Given the description of an element on the screen output the (x, y) to click on. 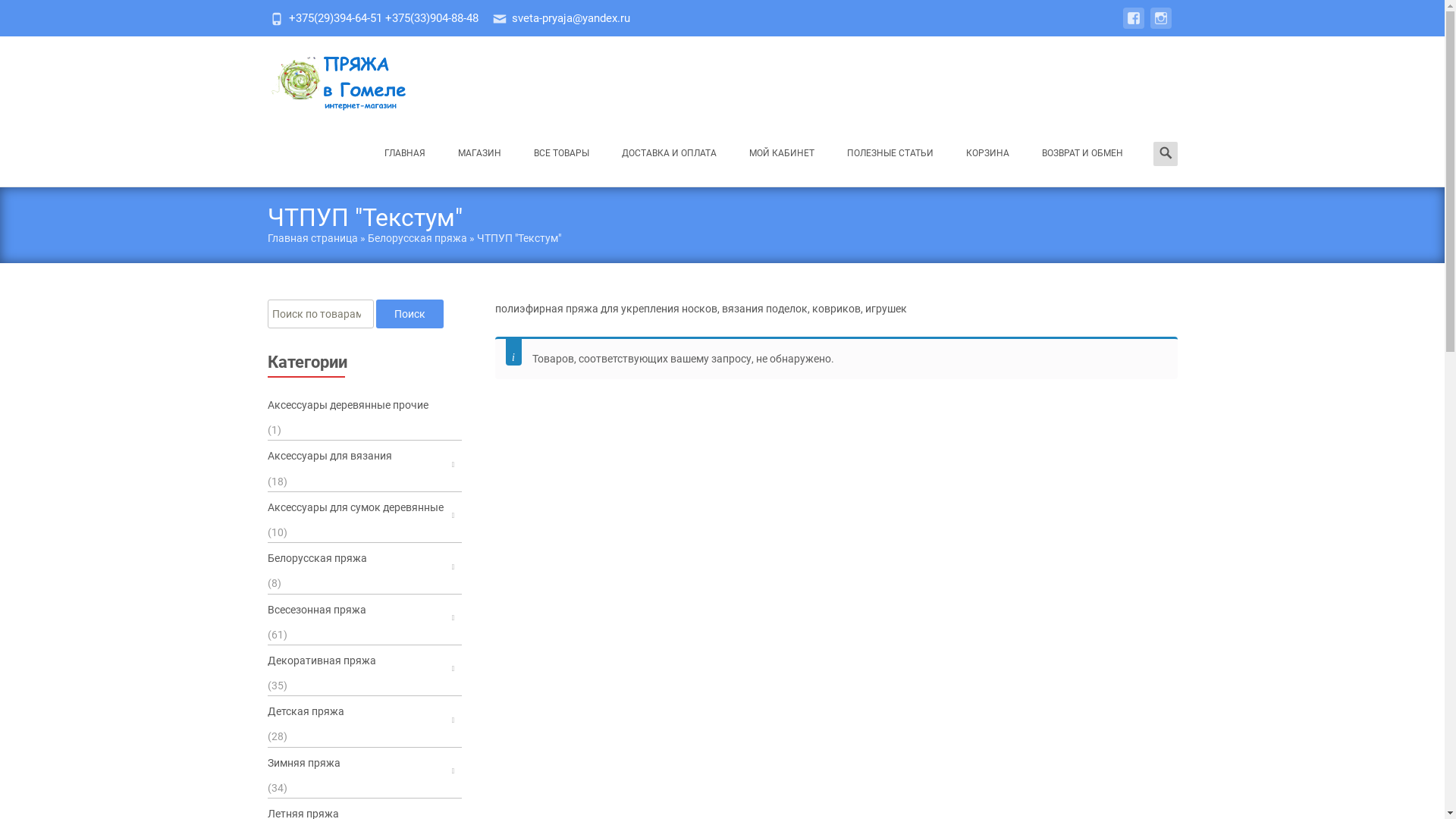
instagram Element type: hover (1159, 25)
Search Element type: text (18, 14)
Skip to content Element type: text (368, 119)
facebook Element type: hover (1132, 25)
Search for: Element type: hover (1164, 153)
